Given the description of an element on the screen output the (x, y) to click on. 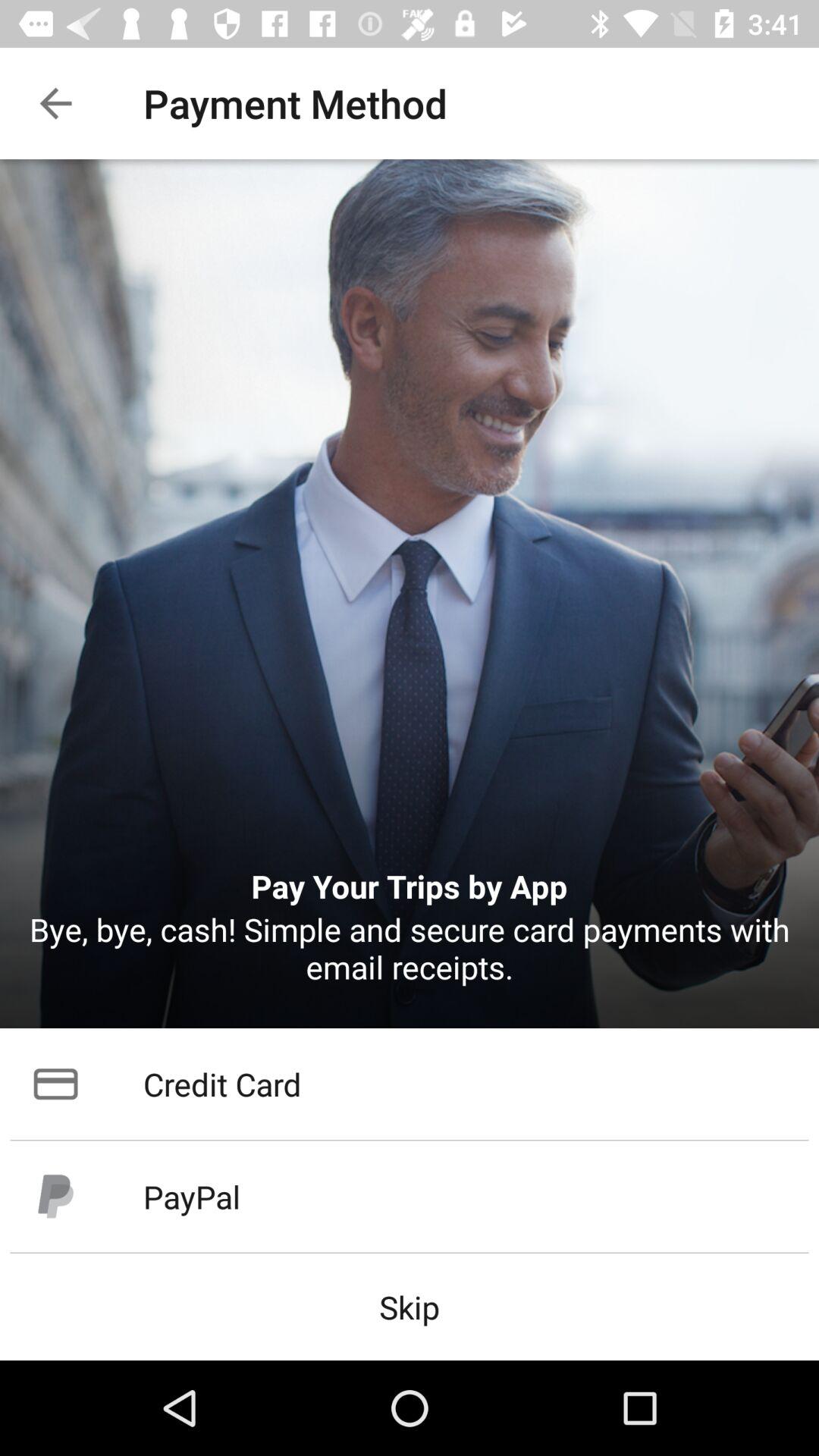
swipe until the skip icon (409, 1306)
